Given the description of an element on the screen output the (x, y) to click on. 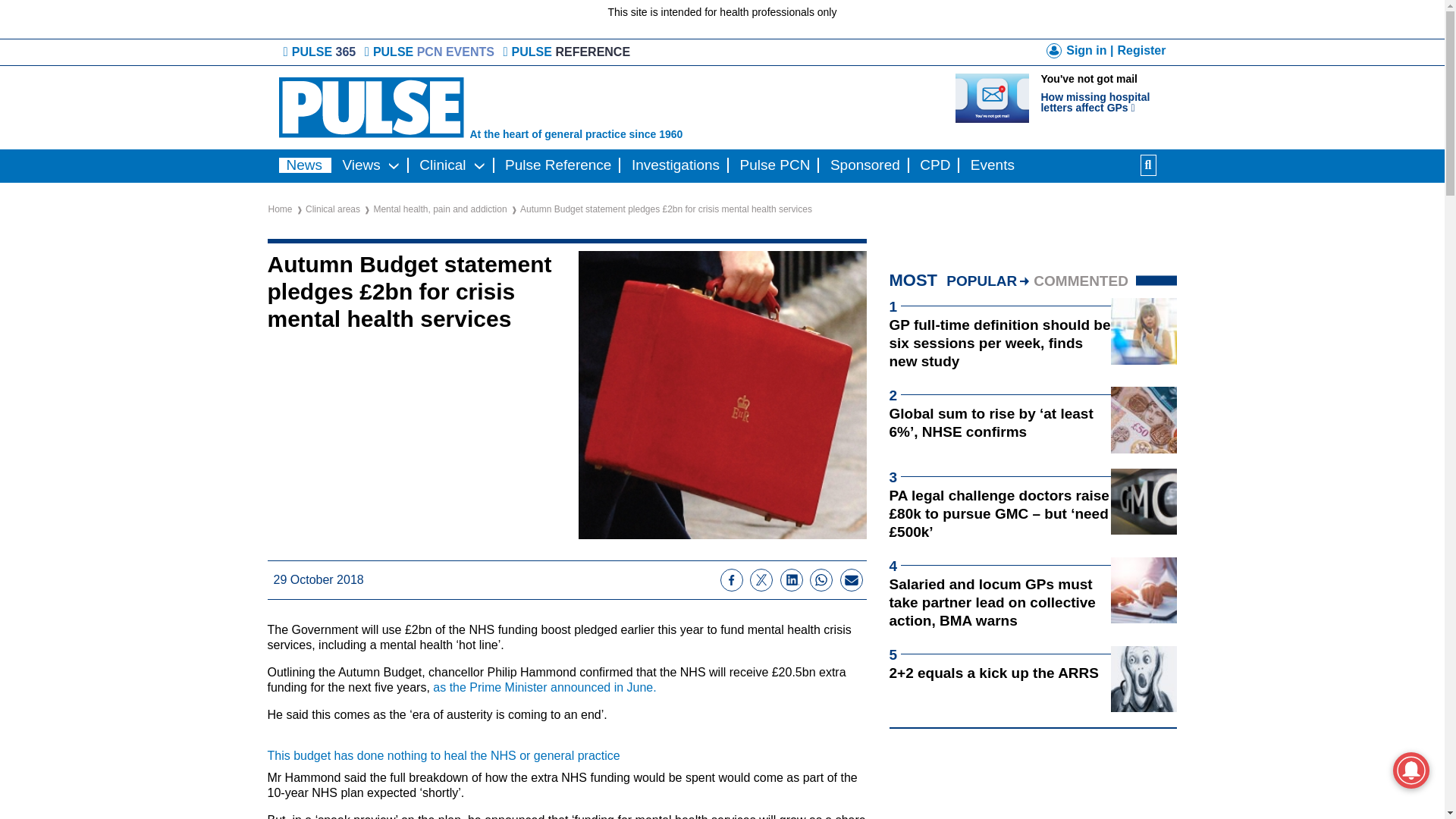
Pulse PCN (1108, 93)
Investigations (775, 165)
News (675, 165)
PULSE PCN EVENTS (304, 165)
At the heart of general practice since 1960 (431, 51)
Sponsored (564, 107)
Register (864, 165)
Events (1141, 50)
Sign in (992, 165)
